Given the description of an element on the screen output the (x, y) to click on. 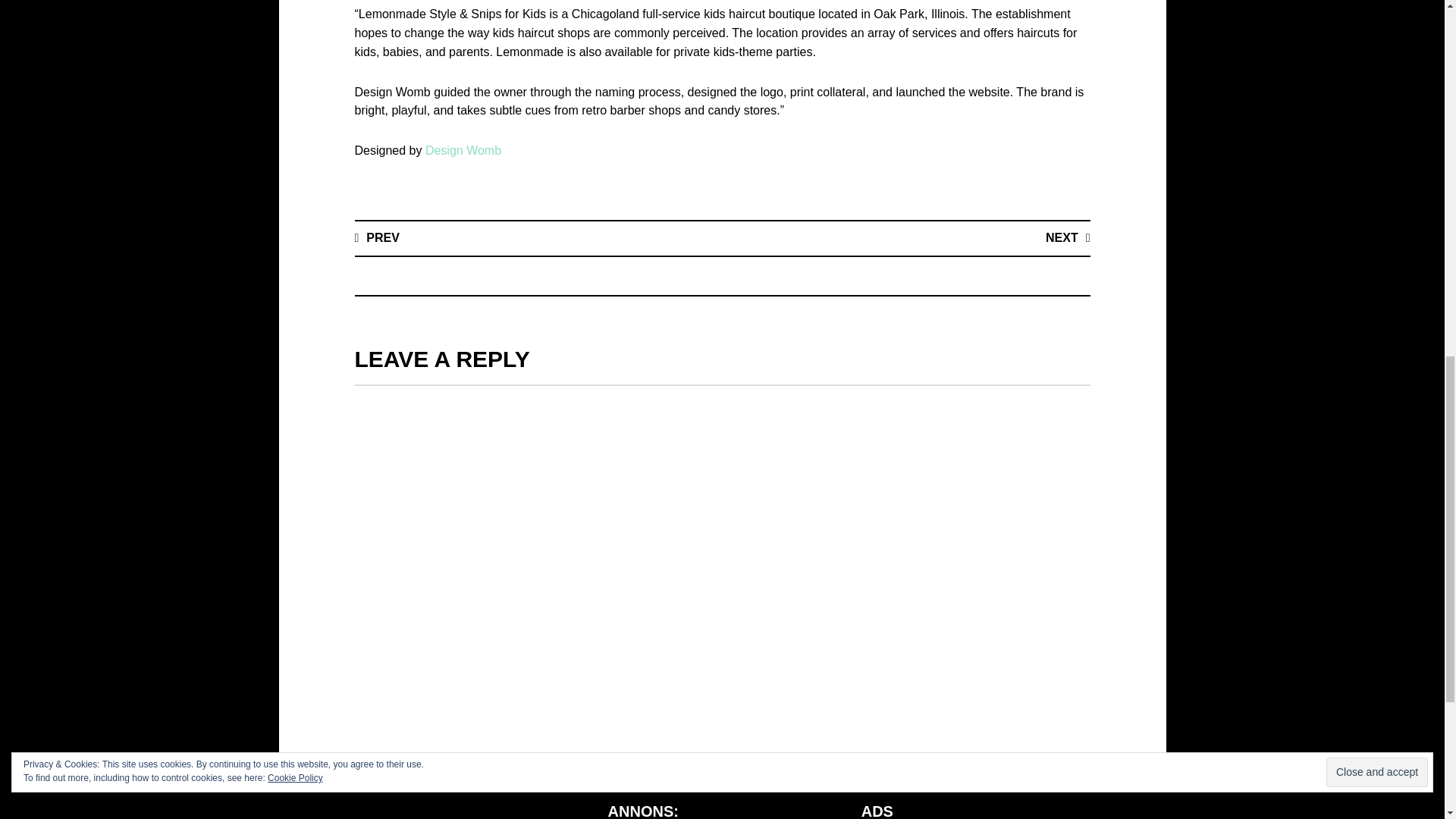
PREV (376, 237)
Design Womb (462, 150)
NEXT (1067, 237)
